Given the description of an element on the screen output the (x, y) to click on. 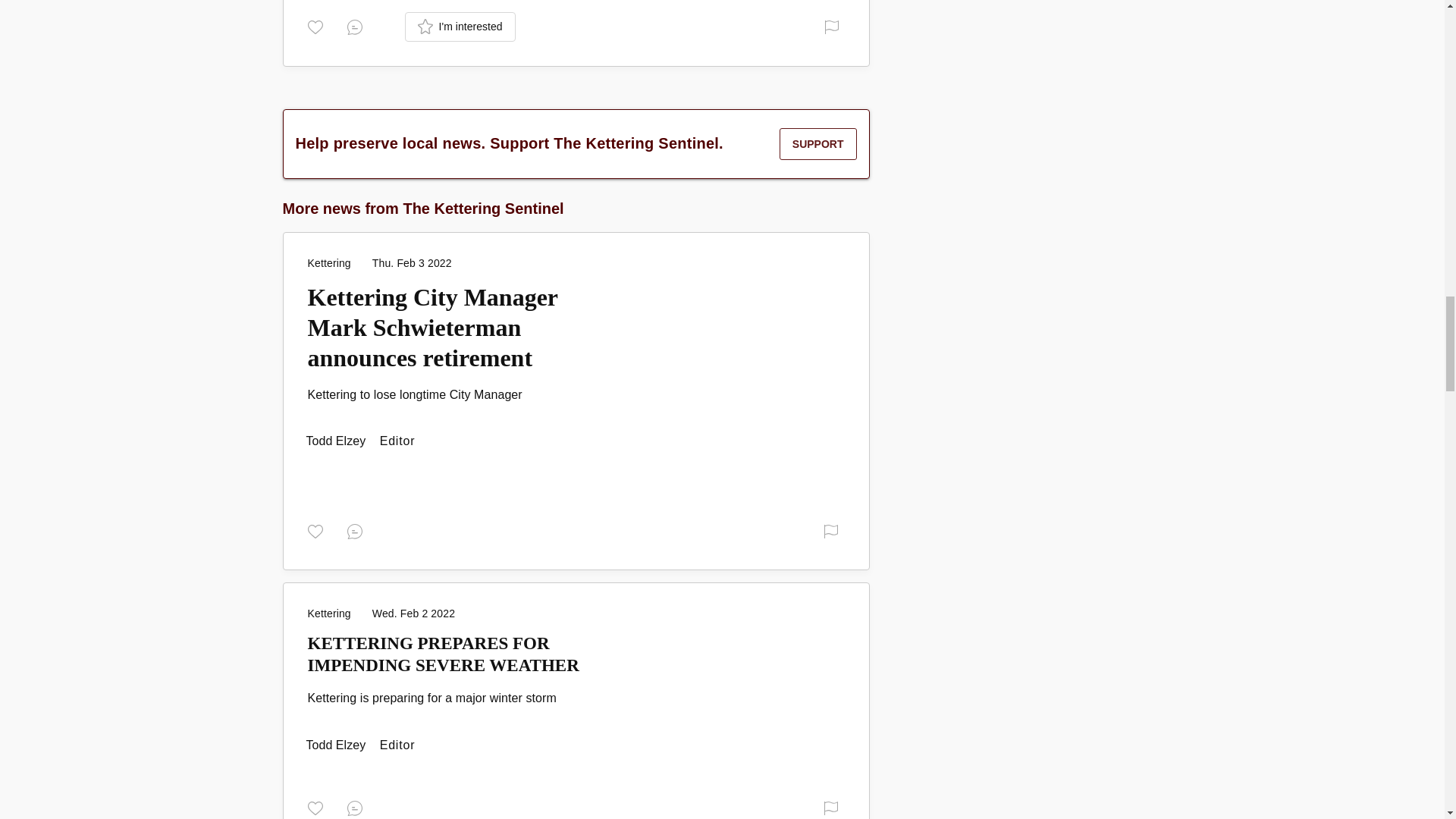
Reply (357, 530)
Reply (357, 25)
Editor (337, 440)
Editor (337, 744)
Thank (318, 25)
Thank (318, 807)
Reply (357, 807)
Thank (318, 530)
